Given the description of an element on the screen output the (x, y) to click on. 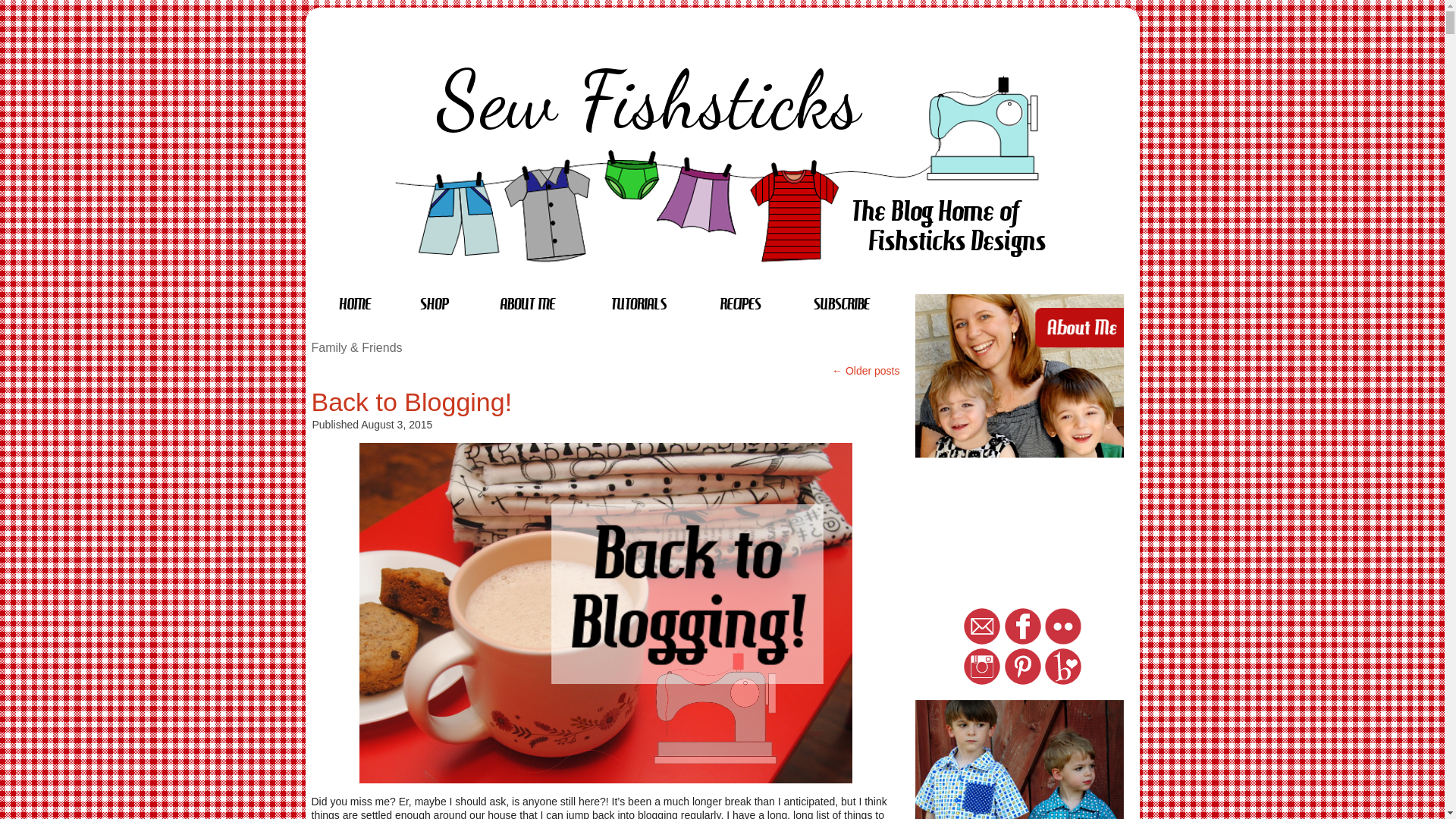
Back to Blogging! (411, 401)
Back to Blogging! (411, 401)
8:06 am (396, 424)
